Given the description of an element on the screen output the (x, y) to click on. 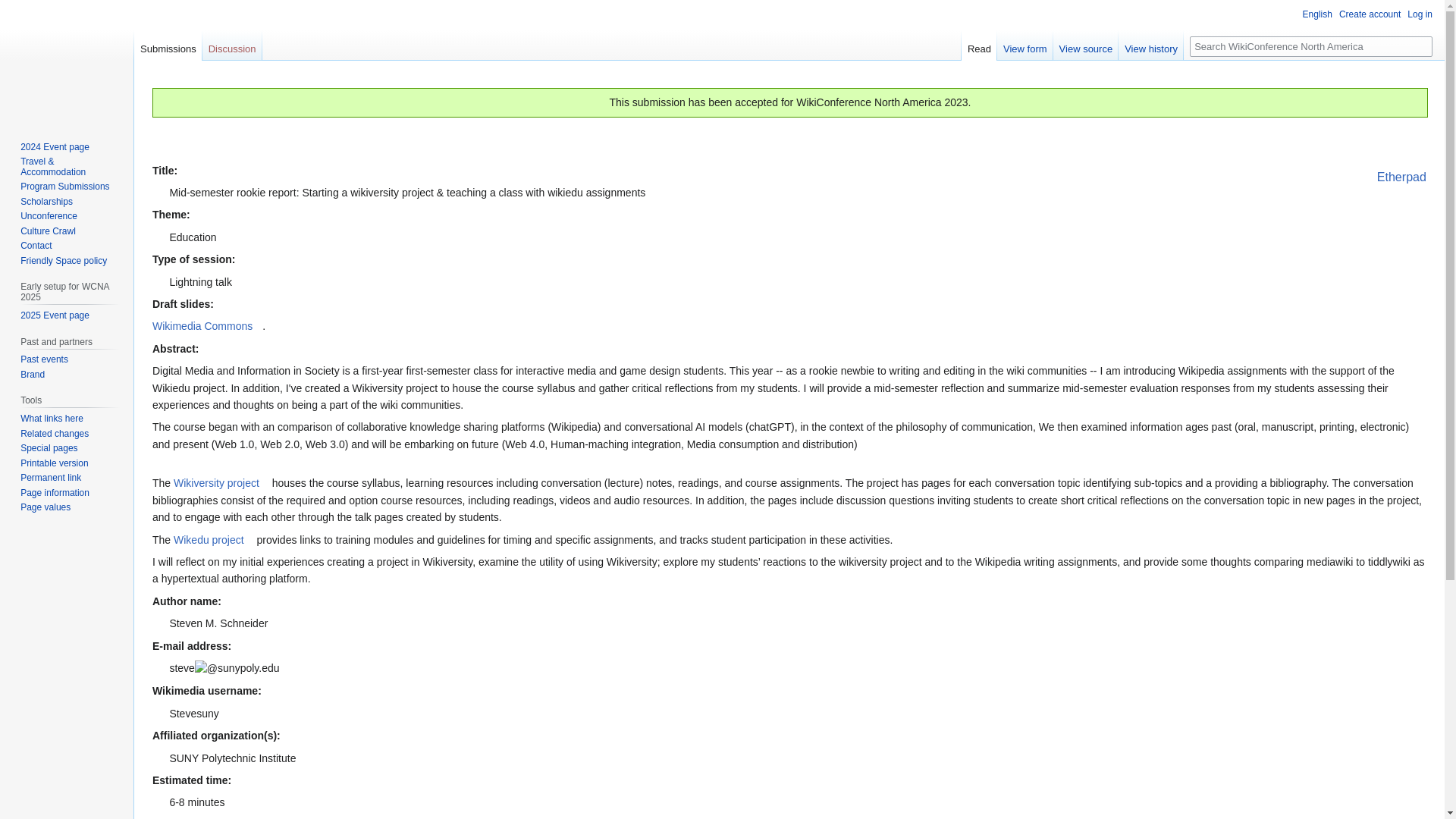
2025 Event page (54, 315)
Search the pages for this text (1422, 46)
Unconference (48, 215)
Scholarships (46, 201)
Visit the main page (66, 60)
Permanent link (50, 477)
Printable version (53, 462)
Etherpad (1401, 177)
Related changes (54, 433)
Go (1422, 46)
View source (1085, 45)
What links here (51, 418)
Search (1422, 46)
Brand (32, 374)
